Given the description of an element on the screen output the (x, y) to click on. 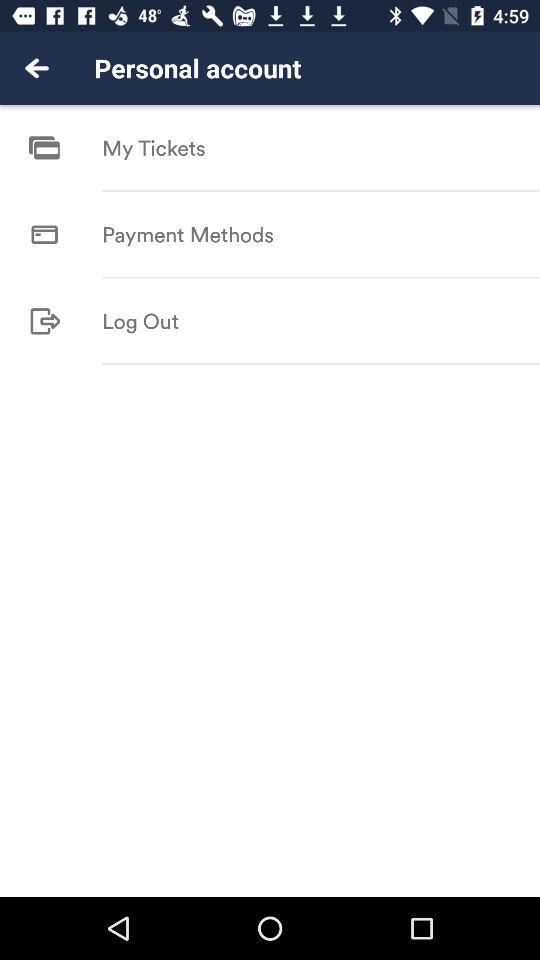
launch the item below the my tickets (321, 190)
